Given the description of an element on the screen output the (x, y) to click on. 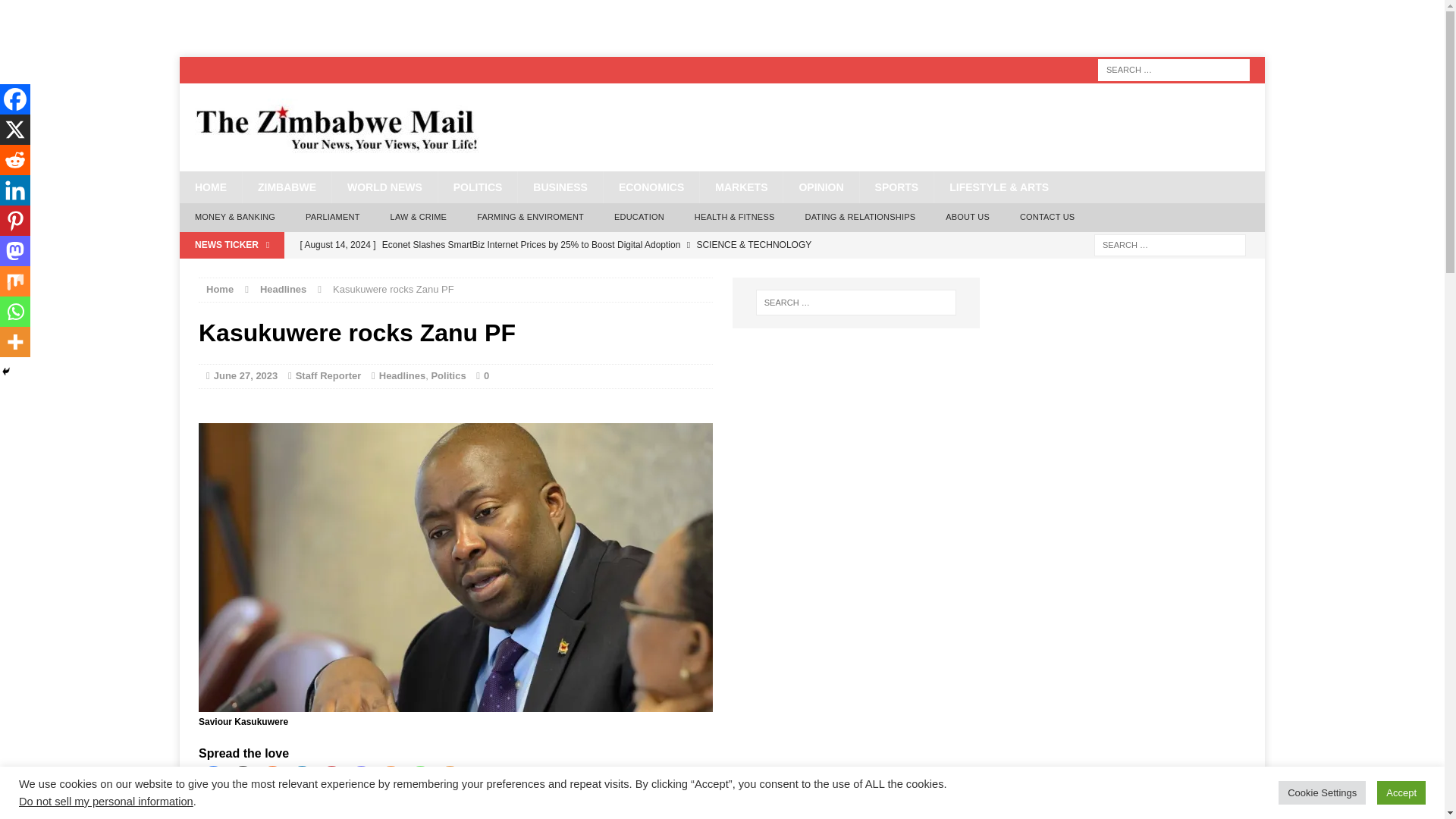
BUSINESS (559, 187)
SPORTS (896, 187)
ZIMBABWE (286, 187)
PARLIAMENT (331, 217)
Search (37, 11)
Facebook (213, 778)
Linkedin (301, 778)
HOME (210, 187)
MARKETS (740, 187)
